Given the description of an element on the screen output the (x, y) to click on. 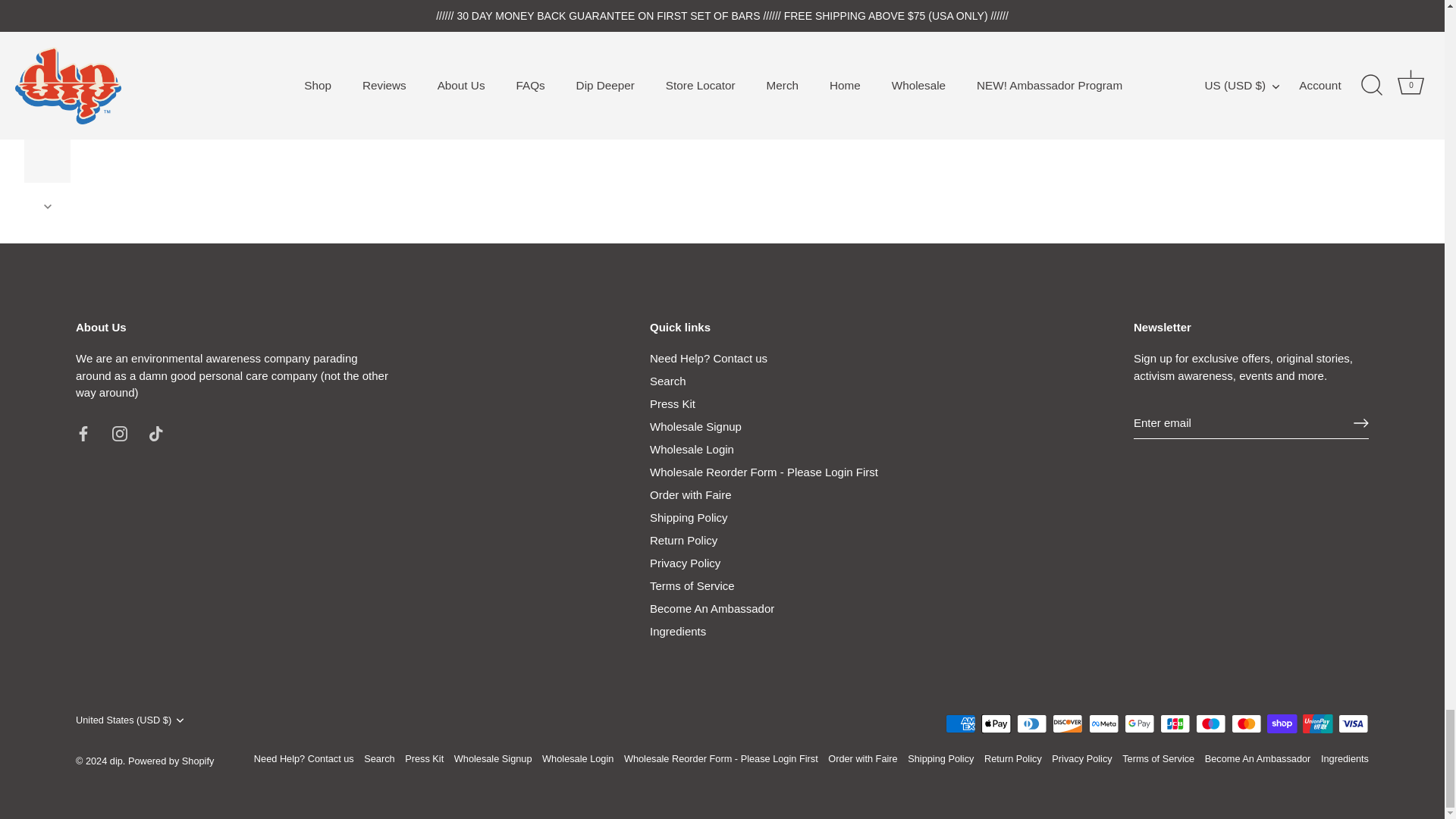
Union Pay (1317, 723)
Apple Pay (996, 723)
RIGHT ARROW LONG (1361, 422)
Mastercard (1245, 723)
JCB (1174, 723)
Diners Club (1031, 723)
Shop Pay (1281, 723)
Maestro (1210, 723)
Discover (1067, 723)
American Express (959, 723)
Google Pay (1139, 723)
Instagram (120, 433)
About Us (231, 375)
Meta Pay (1104, 723)
Visa (1353, 723)
